Given the description of an element on the screen output the (x, y) to click on. 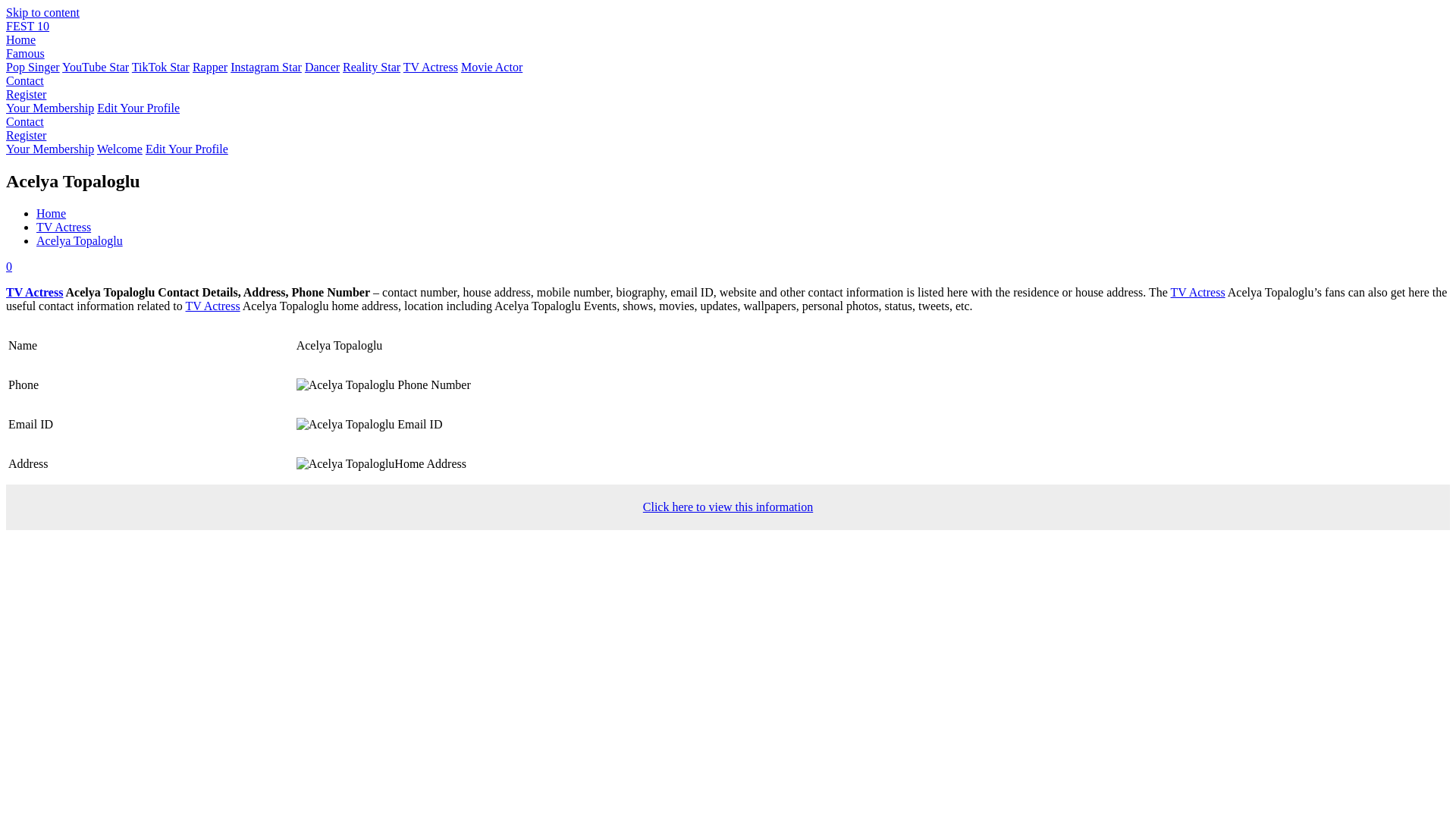
Contact (24, 80)
TV Actress (430, 66)
Acelya Topaloglu (79, 240)
Edit Your Profile (186, 148)
TV Actress (63, 226)
Home (19, 39)
Instagram Star (265, 66)
TV Actress (430, 66)
Register (25, 93)
Home (50, 213)
